Given the description of an element on the screen output the (x, y) to click on. 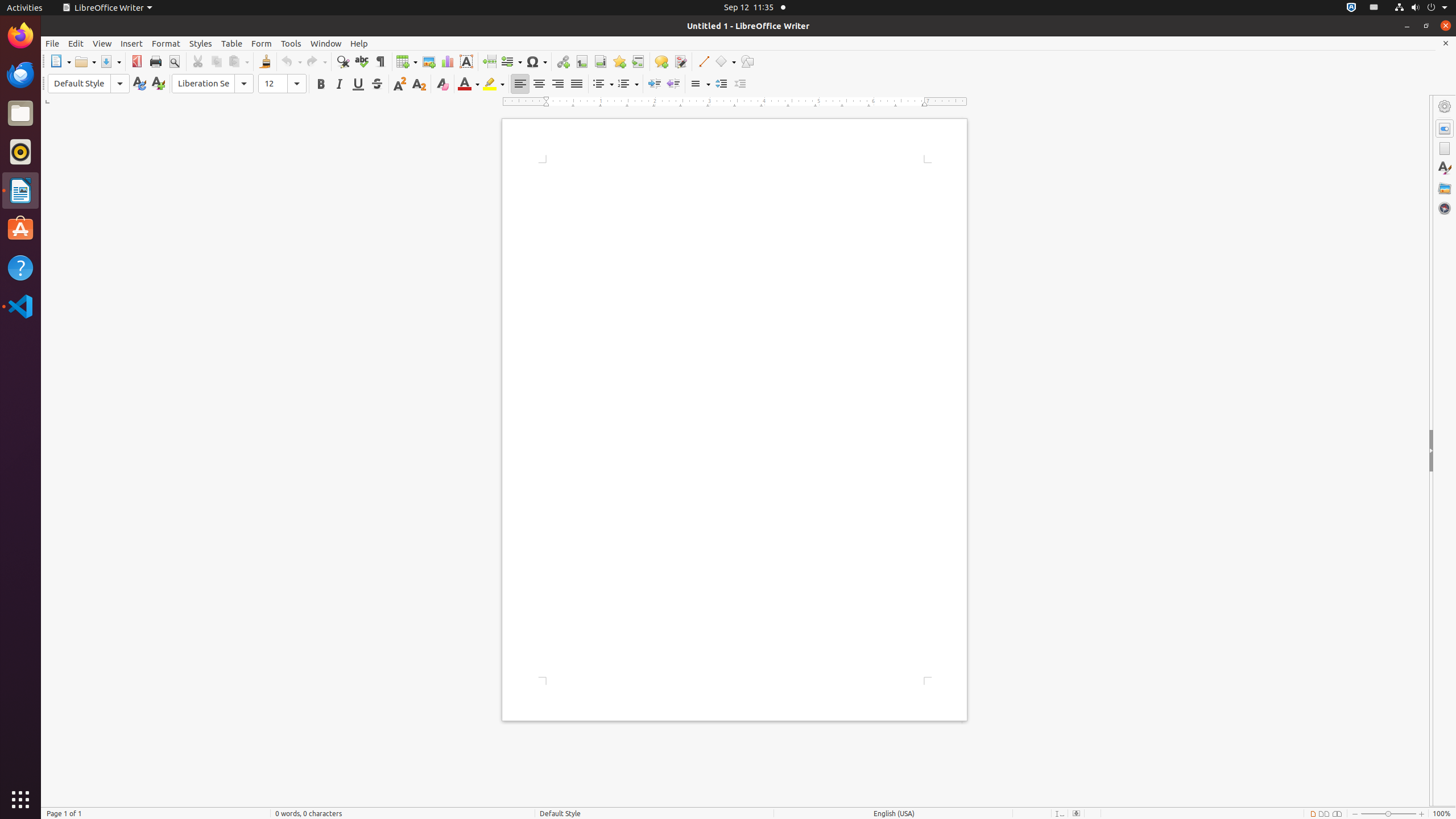
Help Element type: menu (358, 43)
Track Changes Functions Element type: toggle-button (679, 61)
Formatting Marks Element type: toggle-button (379, 61)
PDF Element type: push-button (136, 61)
Clone Element type: push-button (264, 61)
